Given the description of an element on the screen output the (x, y) to click on. 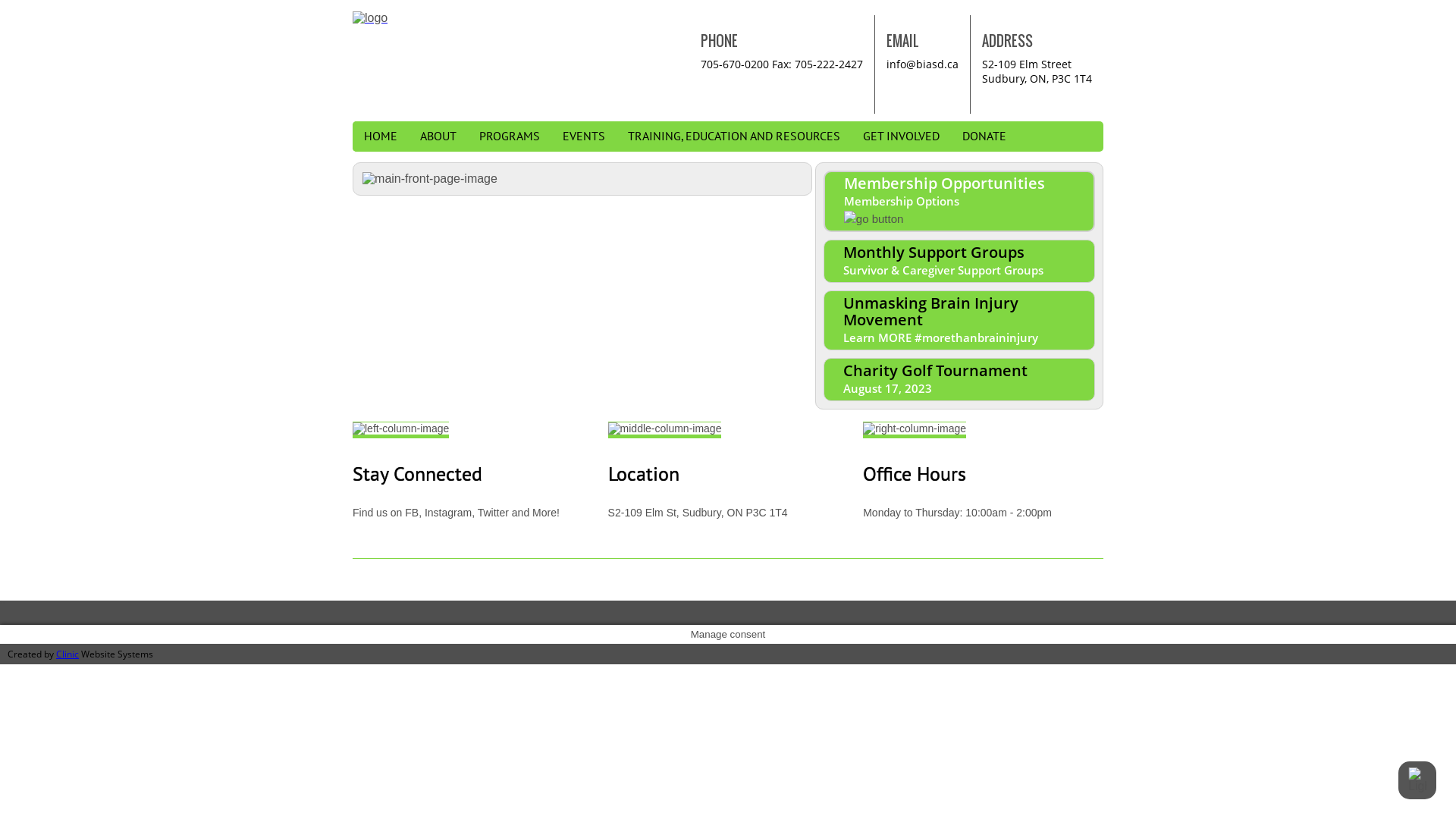
HOME Element type: text (380, 136)
Monthly Support Groups
Survivor & Caregiver Support Groups Element type: text (959, 260)
TRAINING, EDUCATION AND RESOURCES Element type: text (733, 136)
ABOUT Element type: text (437, 136)
Clinic Element type: text (67, 653)
Stay Connected
Find us on FB, Instagram, Twitter and More! Element type: text (472, 469)
Charity Golf Tournament
August 17, 2023 Element type: text (959, 379)
Office Hours
Monday to Thursday: 10:00am - 2:00pm Element type: text (982, 469)
Location
S2-109 Elm St, Sudbury, ON P3C 1T4 Element type: text (728, 469)
info@biasd.ca Element type: text (922, 63)
EVENTS Element type: text (583, 136)
DONATE Element type: text (983, 136)
Membership Opportunities
Membership Options Element type: text (959, 201)
GET INVOLVED Element type: text (900, 136)
705-670-0200 Fax: 705-222-2427 Element type: text (781, 63)
PROGRAMS Element type: text (509, 136)
